Given the description of an element on the screen output the (x, y) to click on. 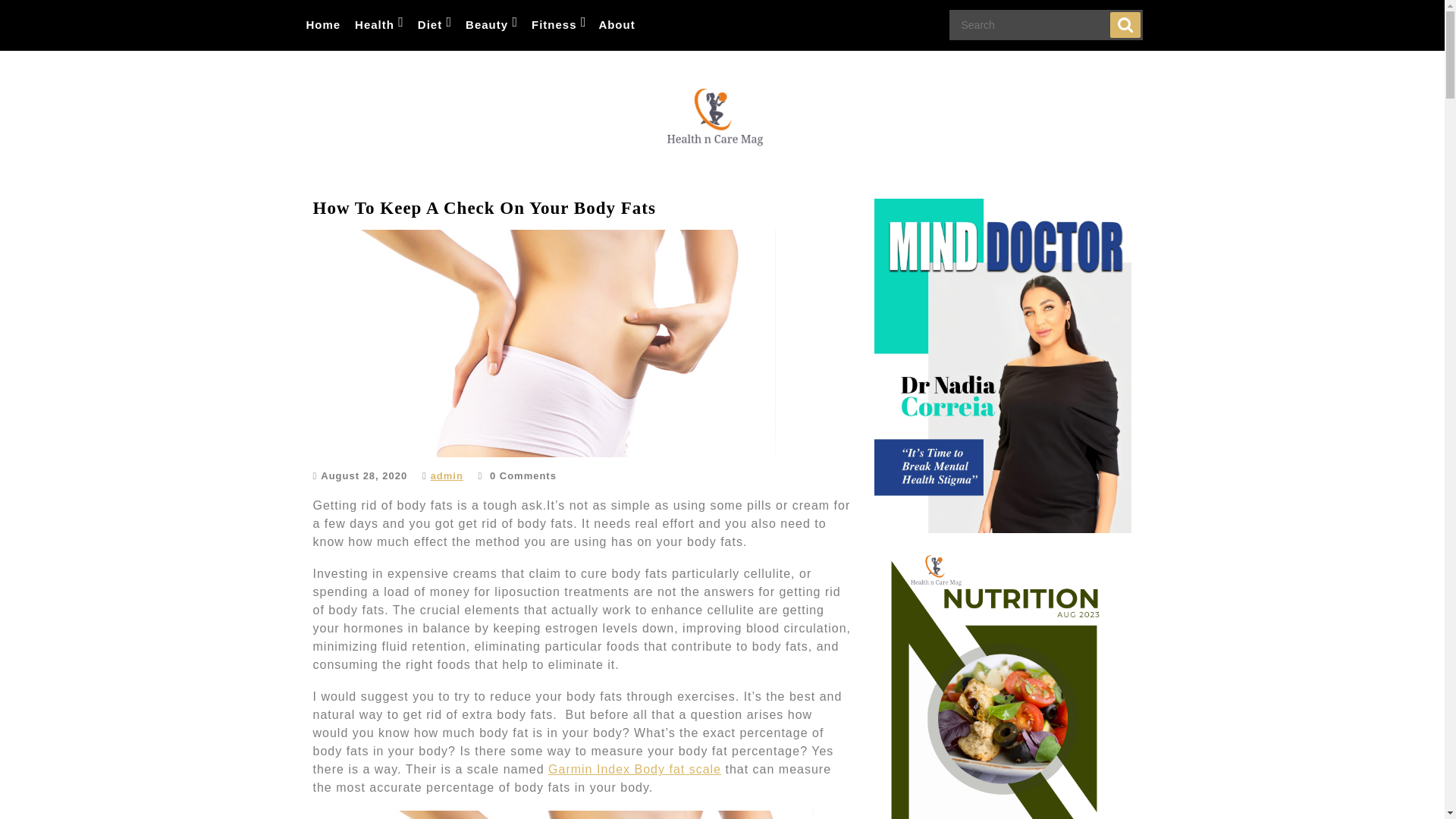
Garmin Index Body fat scale (634, 768)
Our Magazine Aug Edition (1002, 685)
Search (1124, 24)
Fitness (558, 25)
Health (378, 25)
About (616, 25)
admin (446, 475)
Diet (433, 25)
Beauty (490, 25)
Home (323, 25)
